Given the description of an element on the screen output the (x, y) to click on. 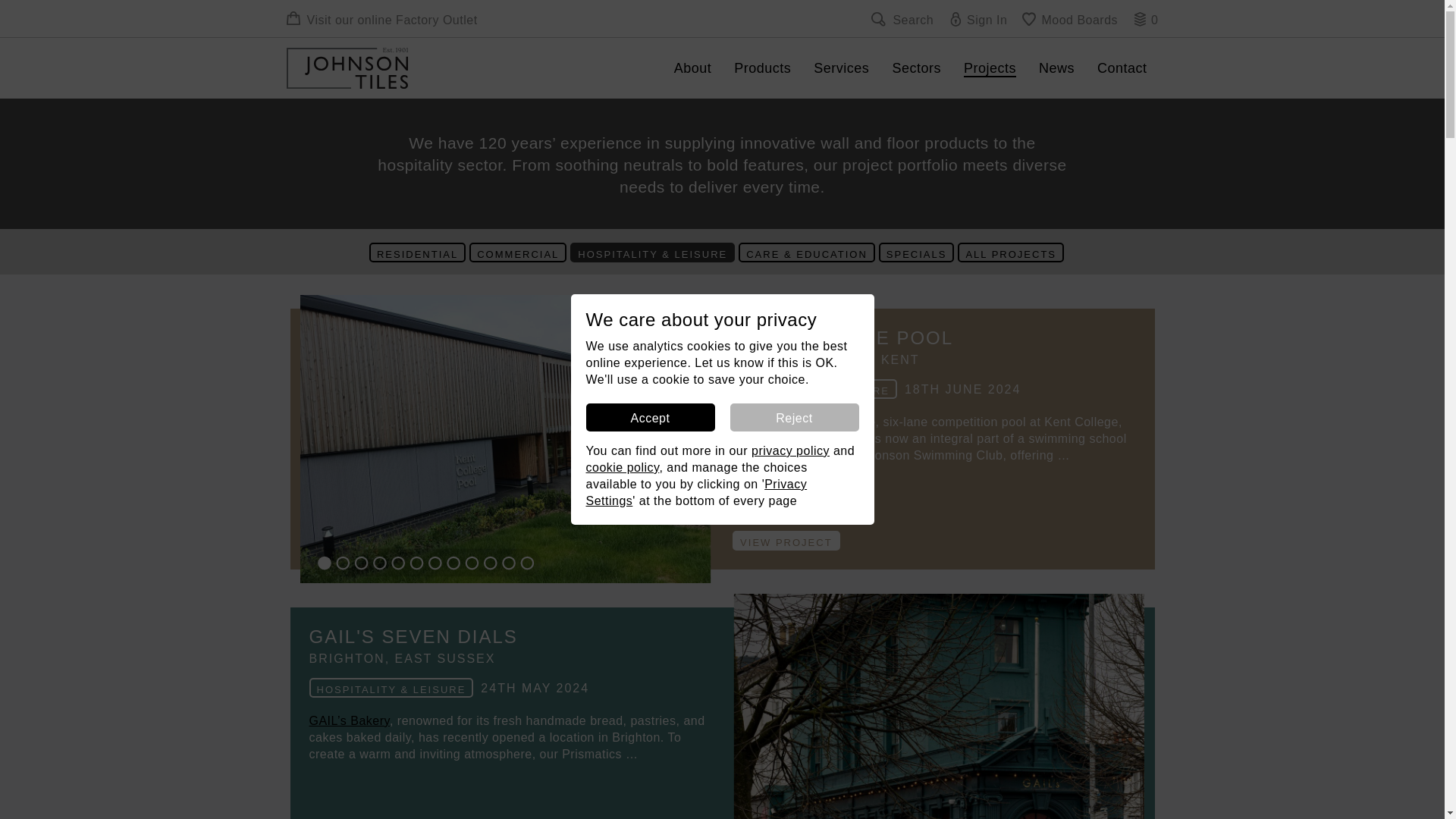
Search (901, 20)
About (692, 67)
0 (1144, 20)
Mood Boards (1070, 20)
Mood Boards (1070, 20)
Visit our online Factory Outlet (381, 19)
Products (762, 67)
Sign In (978, 20)
